Given the description of an element on the screen output the (x, y) to click on. 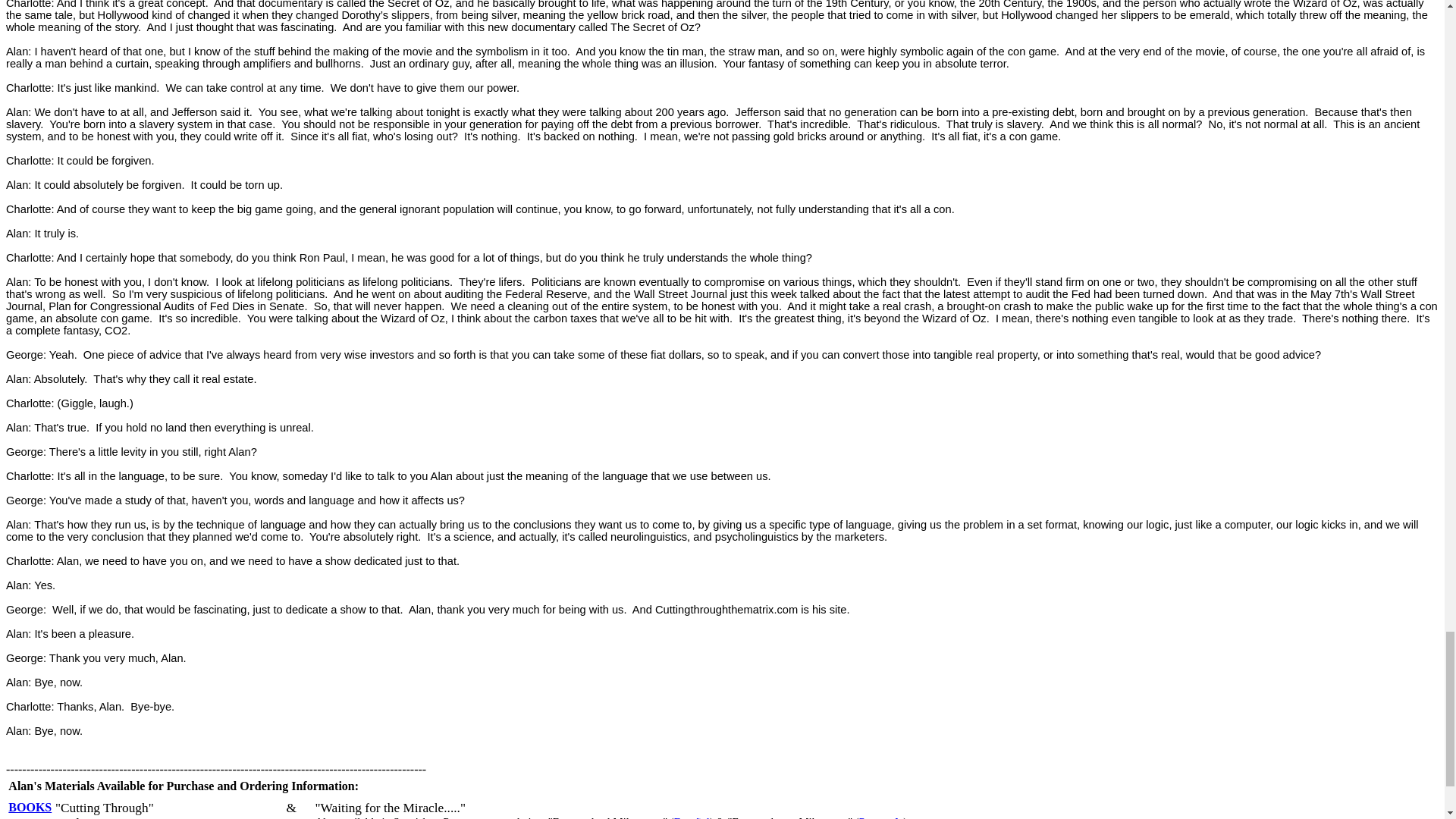
BOOKS (29, 807)
